Given the description of an element on the screen output the (x, y) to click on. 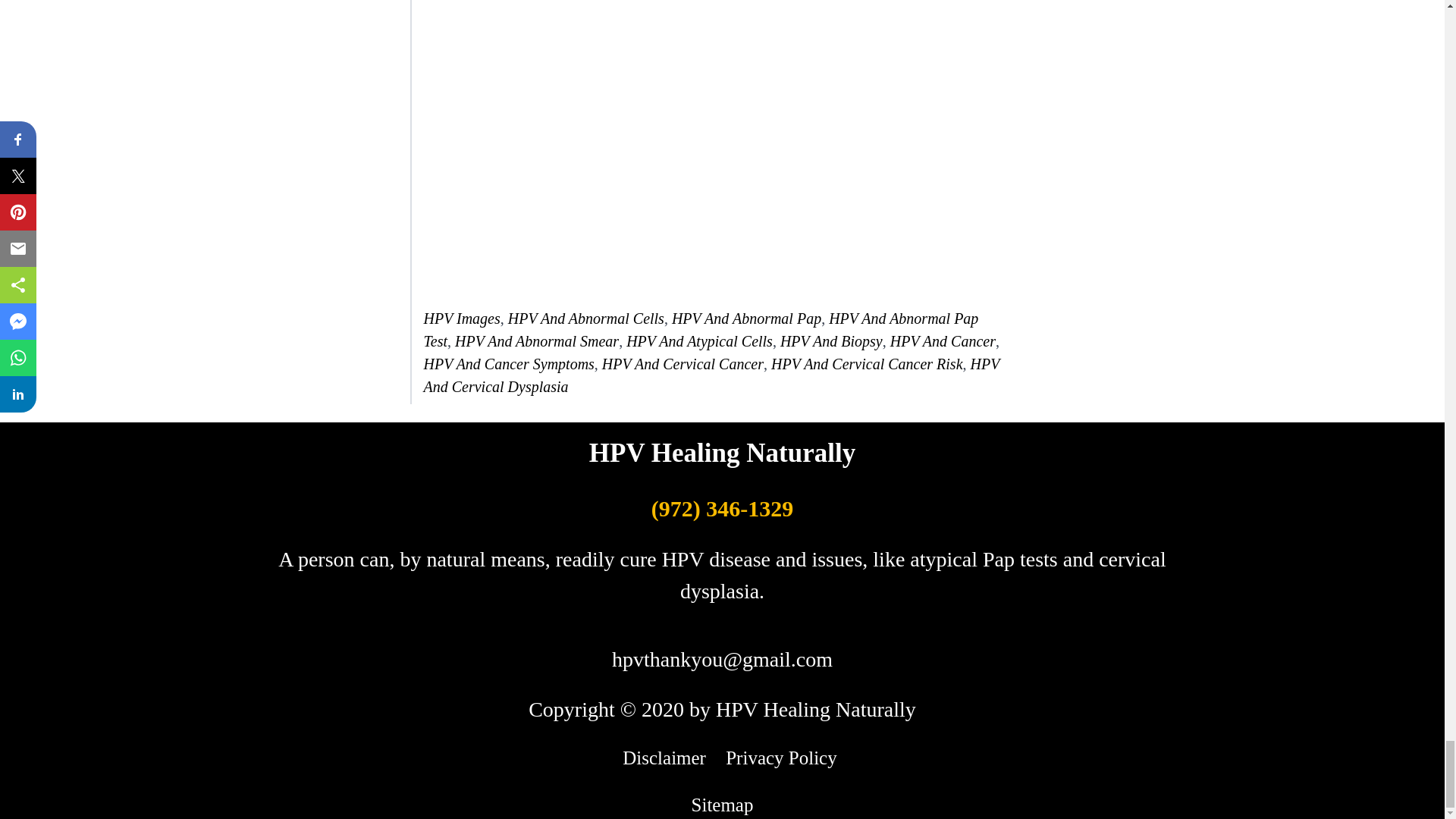
HPV And Abnormal Cells (585, 318)
HPV And Atypical Cells (699, 340)
Privacy Policy (781, 757)
HPV And Cervical Cancer (682, 363)
HPV And Cancer Symptoms (508, 363)
HPV And Abnormal Pap Test (700, 329)
Sitemap (722, 804)
Disclaimer (664, 757)
HPV And Abnormal Pap (746, 318)
HPV And Cervical Cancer Risk (866, 363)
